Given the description of an element on the screen output the (x, y) to click on. 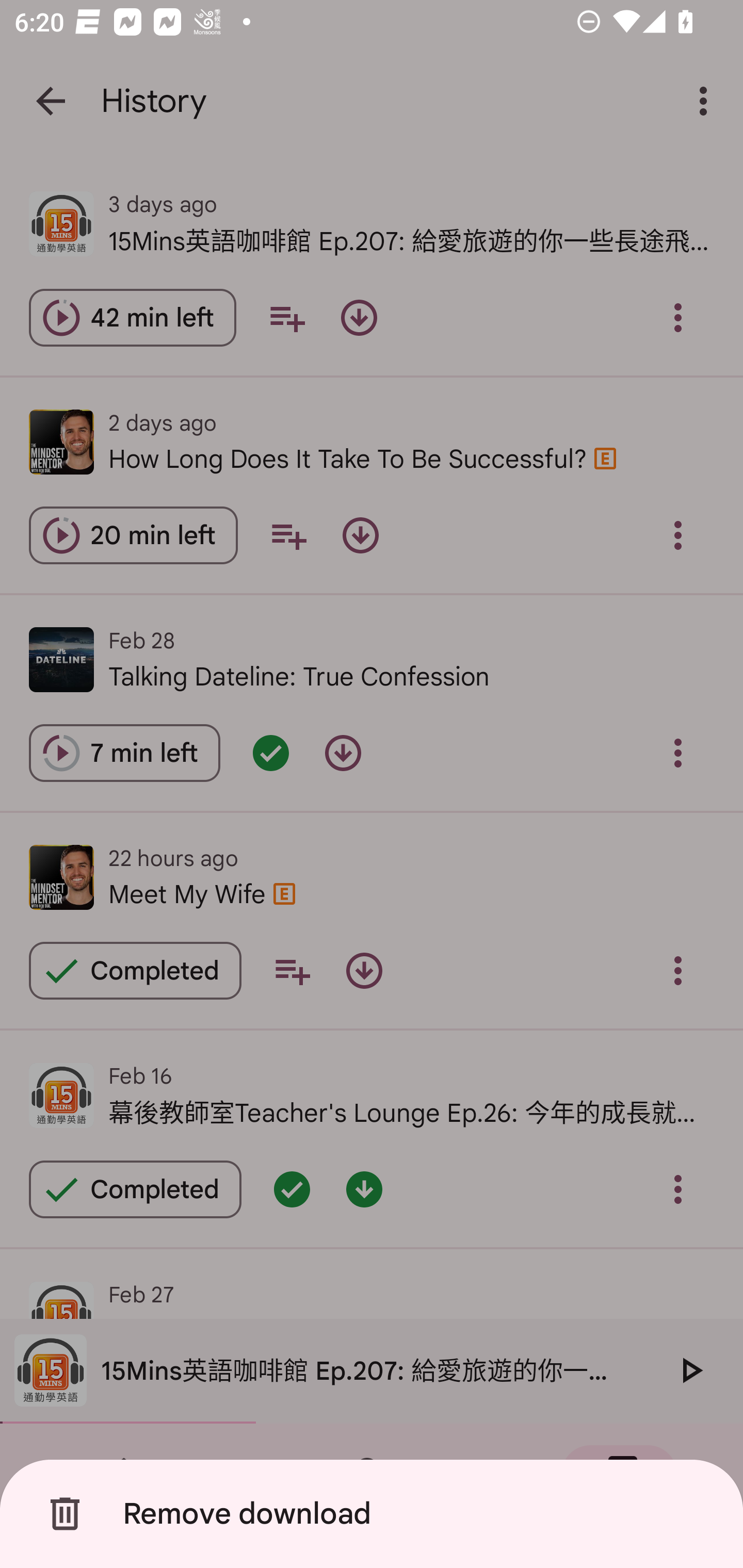
Remove download (375, 1513)
